Given the description of an element on the screen output the (x, y) to click on. 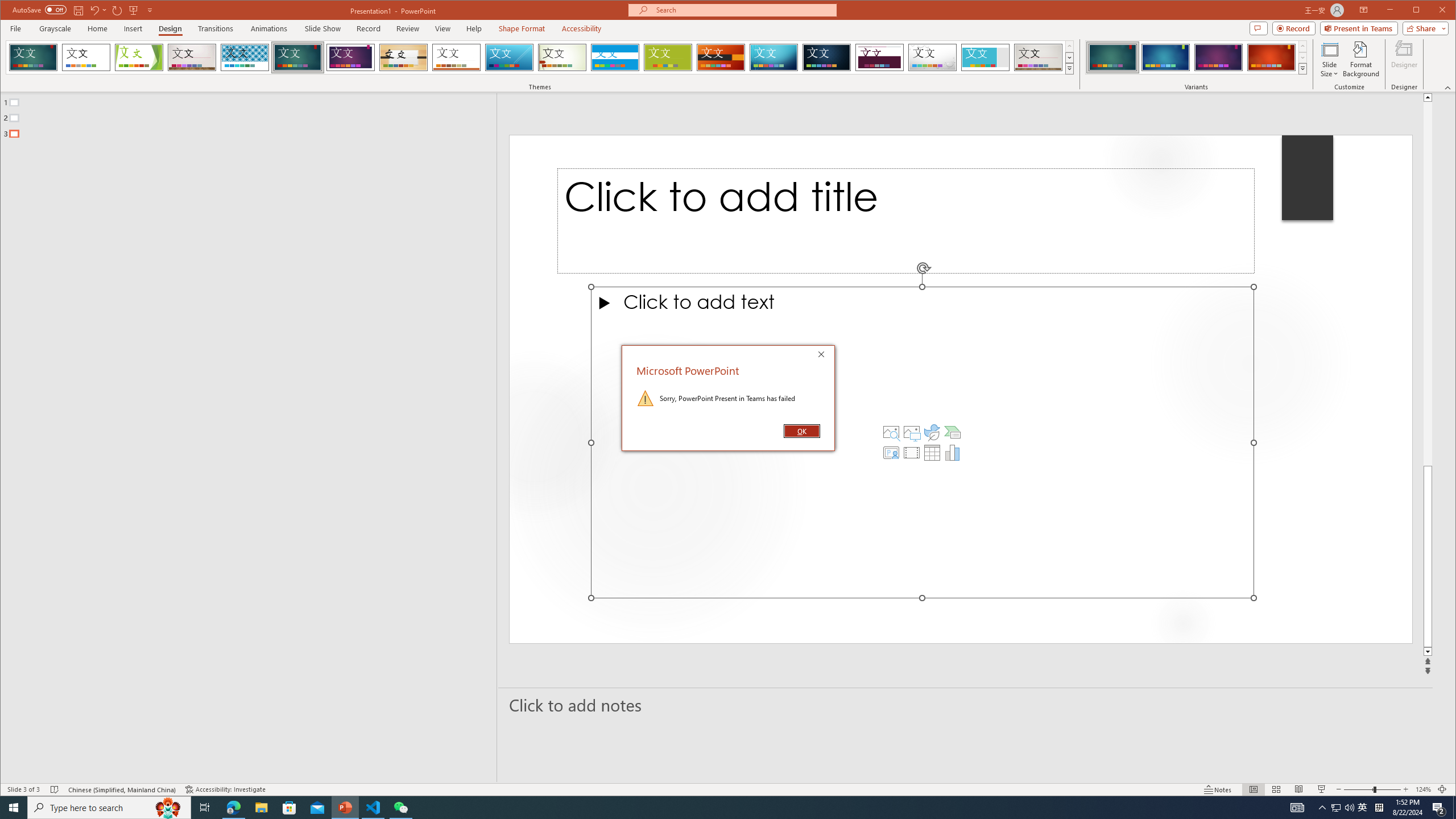
AutomationID: 4105 (1297, 807)
Warning Icon (645, 398)
Accessibility Checker Accessibility: Investigate (225, 789)
Format Background (1360, 59)
Task View (204, 807)
Class: NetUIImage (1302, 68)
OK (801, 431)
Ion Variant 2 (1165, 57)
Line down (1427, 651)
Insert an Icon (931, 432)
Stock Images (890, 432)
